Given the description of an element on the screen output the (x, y) to click on. 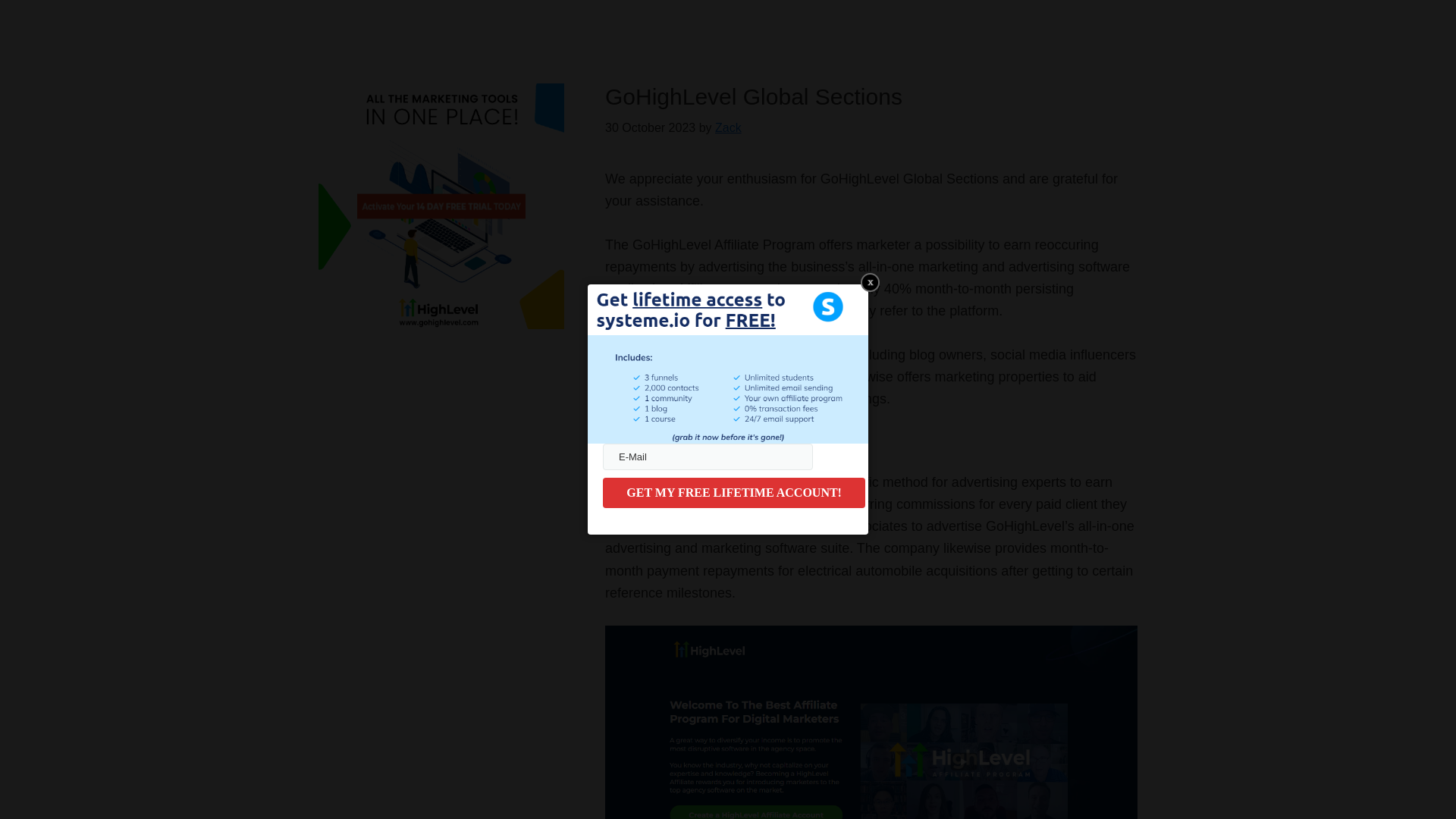
GET MY FREE LIFETIME ACCOUNT! (733, 492)
Zack (727, 127)
GET MY FREE LIFETIME ACCOUNT! (733, 492)
